Given the description of an element on the screen output the (x, y) to click on. 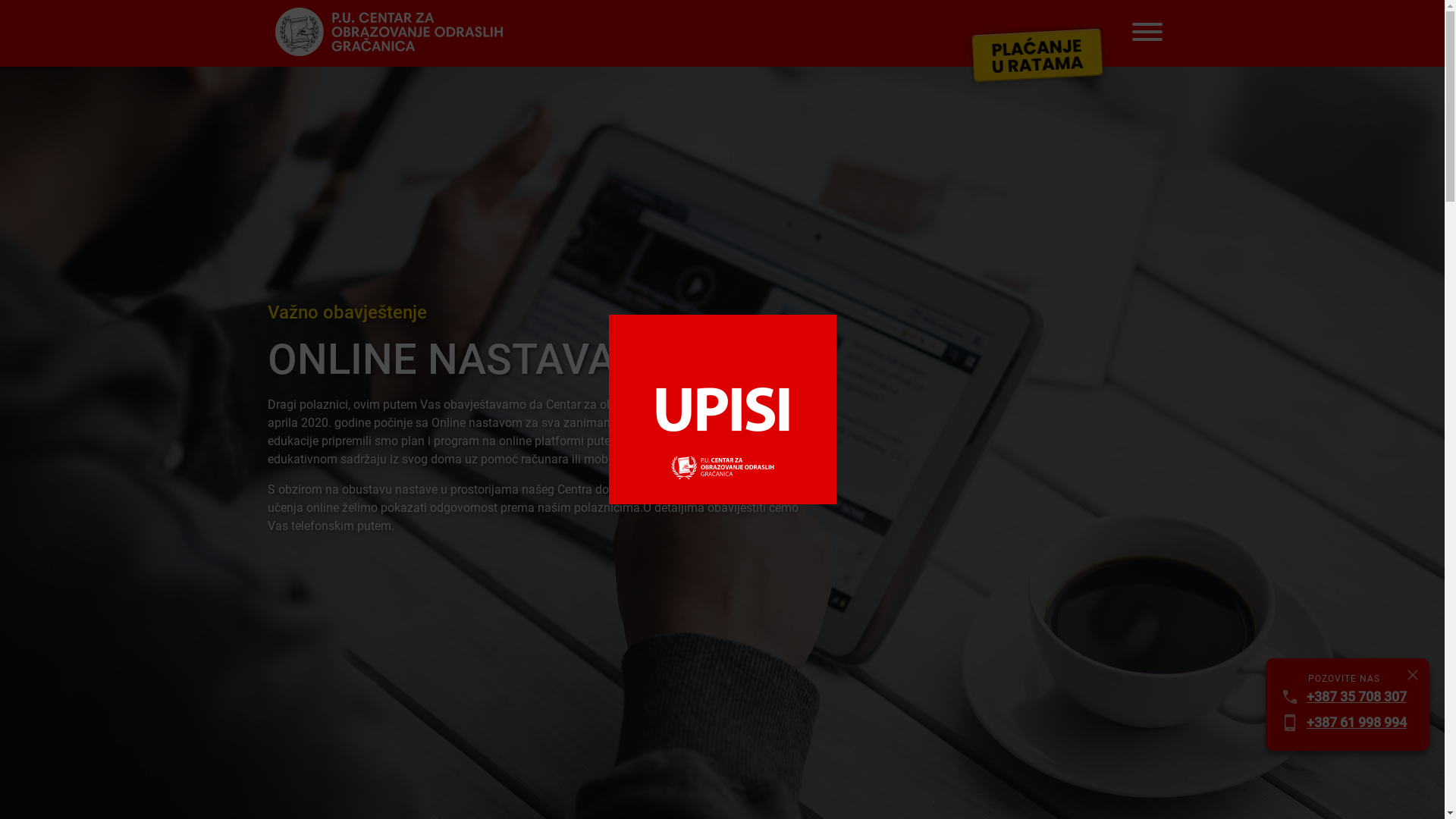
+387 61 998 994 Element type: text (1356, 722)
ONLINE NASTAVA Element type: text (539, 359)
+387 35 708 307 Element type: text (1356, 696)
